Given the description of an element on the screen output the (x, y) to click on. 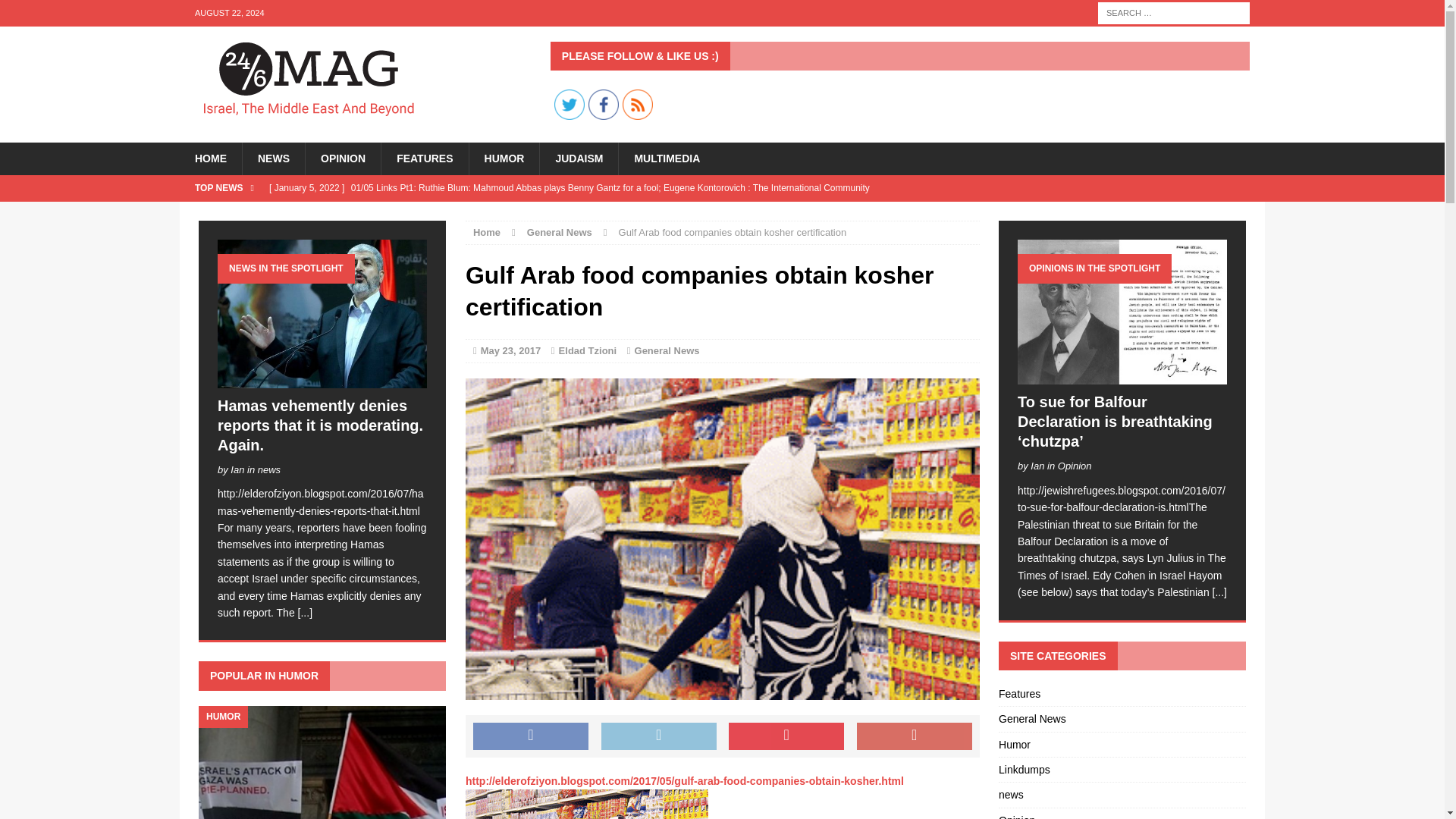
Eldad Tzioni (588, 350)
RSS (637, 104)
Twitter (569, 104)
MULTIMEDIA (665, 158)
General News (559, 232)
Share on Facebook (530, 736)
NEWS (272, 158)
OPINION (342, 158)
JUDAISM (577, 158)
May 23, 2017 (510, 350)
